Given the description of an element on the screen output the (x, y) to click on. 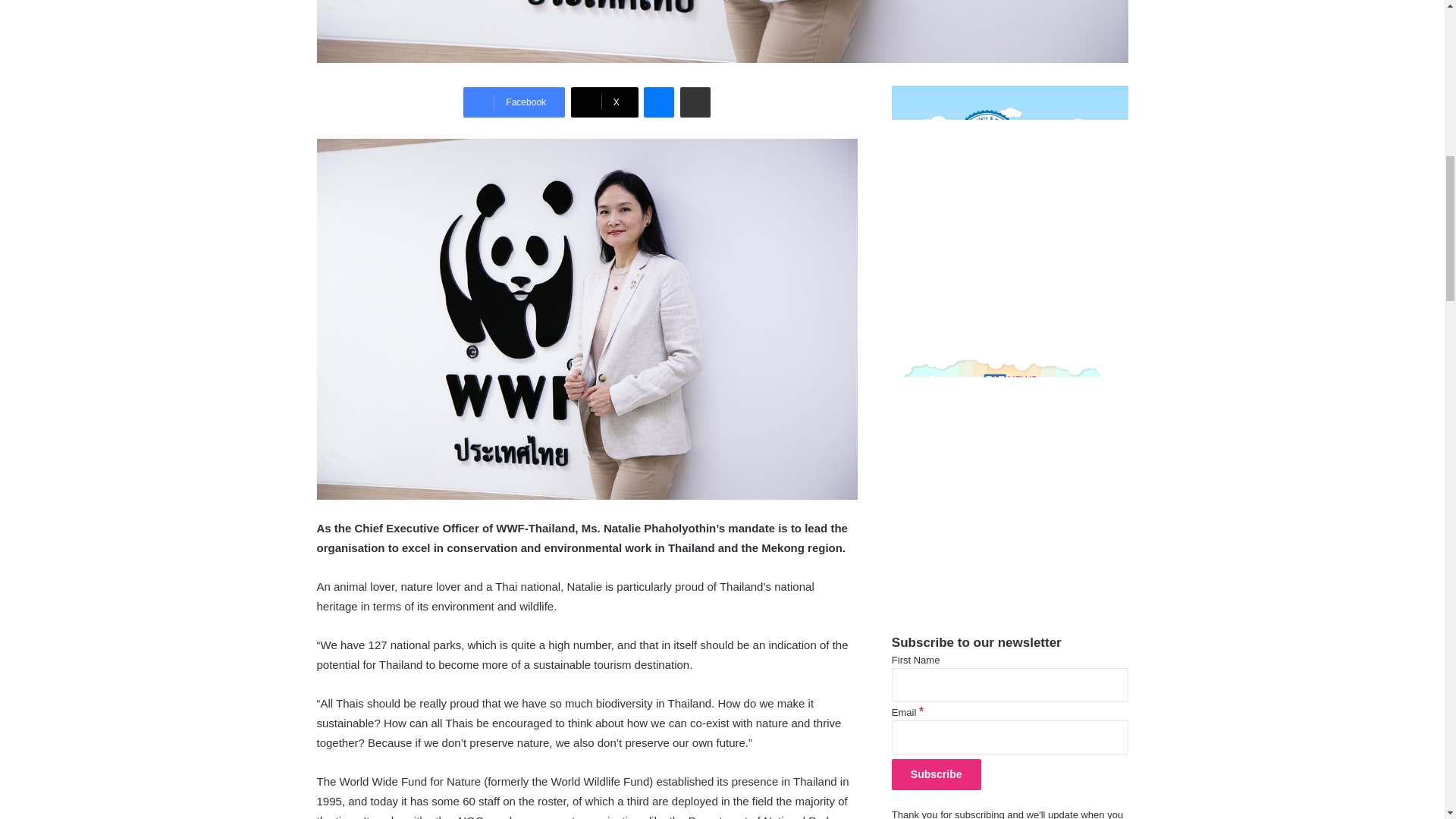
Messenger (658, 101)
Subscribe (936, 774)
Facebook (513, 101)
X (604, 101)
Share via Email (694, 101)
Messenger (658, 101)
Share via Email (694, 101)
X (604, 101)
Facebook (513, 101)
